Given the description of an element on the screen output the (x, y) to click on. 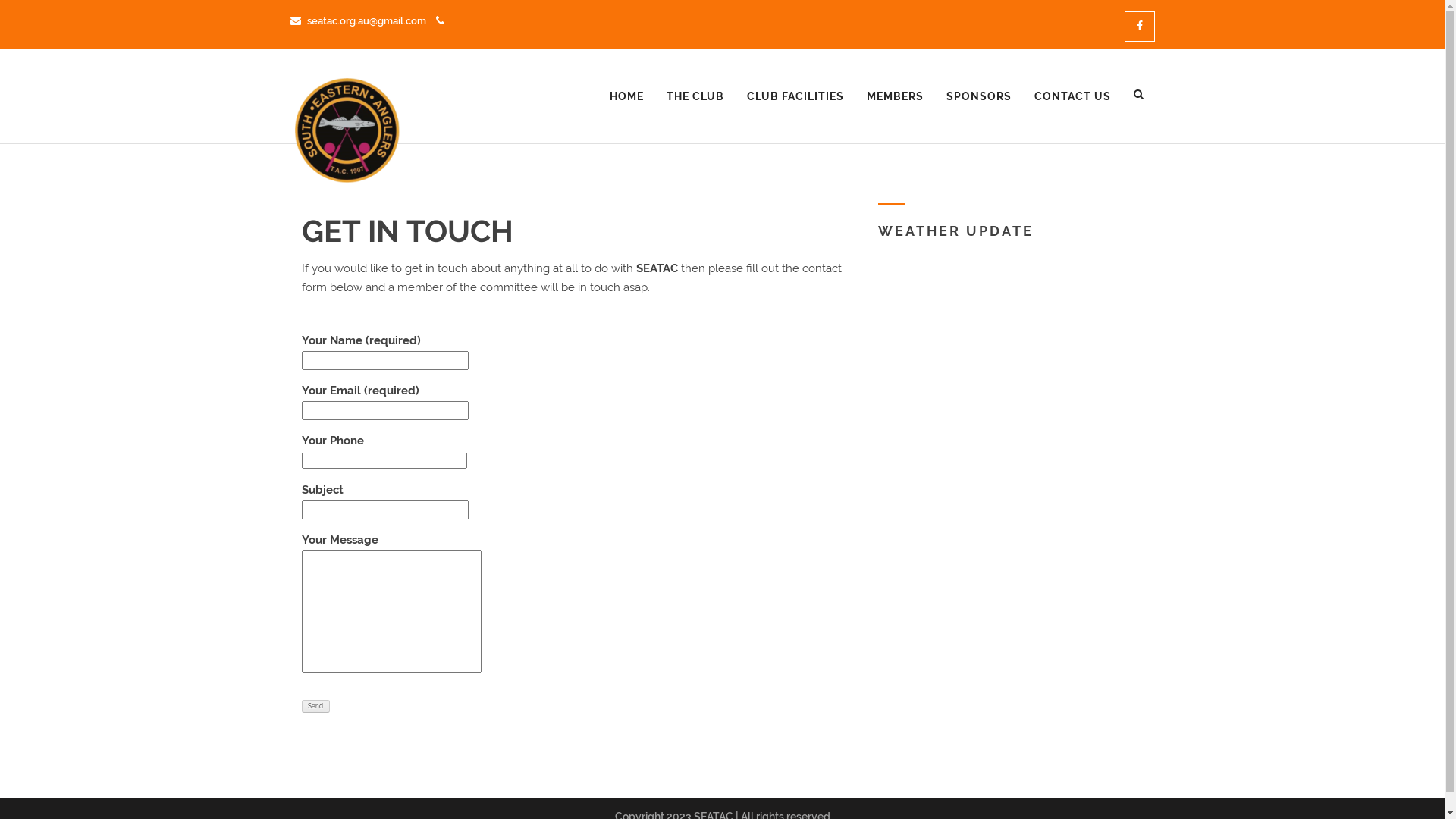
SPONSORS Element type: text (978, 96)
HOME Element type: text (625, 96)
Send Element type: text (315, 705)
CLUB FACILITIES Element type: text (795, 96)
THE CLUB Element type: text (695, 96)
seatac.org.au@gmail.com Element type: text (357, 19)
CONTACT US Element type: text (1071, 96)
MEMBERS Element type: text (895, 96)
